Given the description of an element on the screen output the (x, y) to click on. 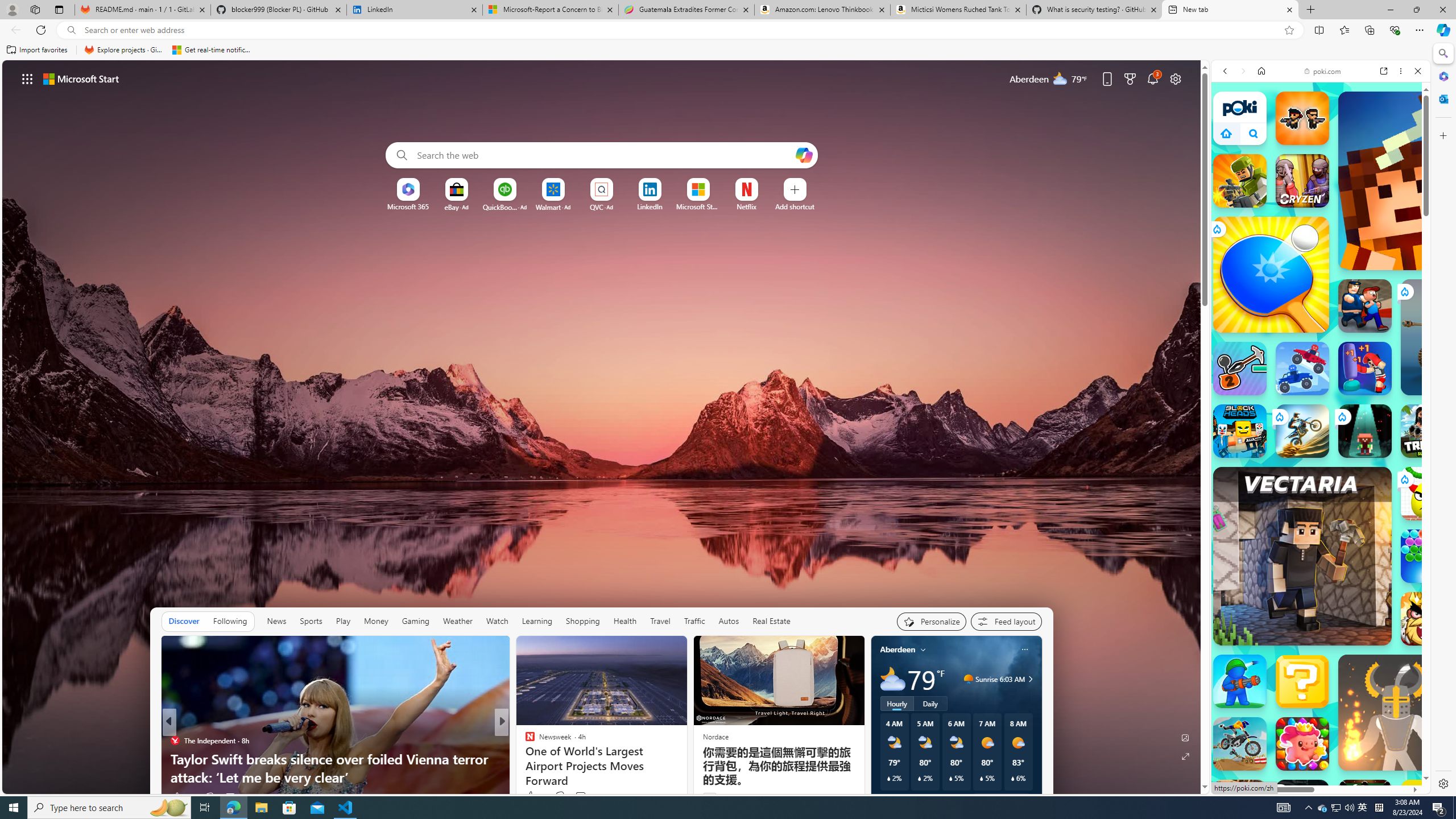
Shooting Games (1320, 314)
Show More Shooting Games (1390, 315)
Blockheads (1239, 430)
Bubble Shooter (1427, 556)
Crazy Bikes Crazy Bikes (1239, 743)
Class: weather-current-precipitation-glyph (1012, 778)
162 Like (532, 796)
